Given the description of an element on the screen output the (x, y) to click on. 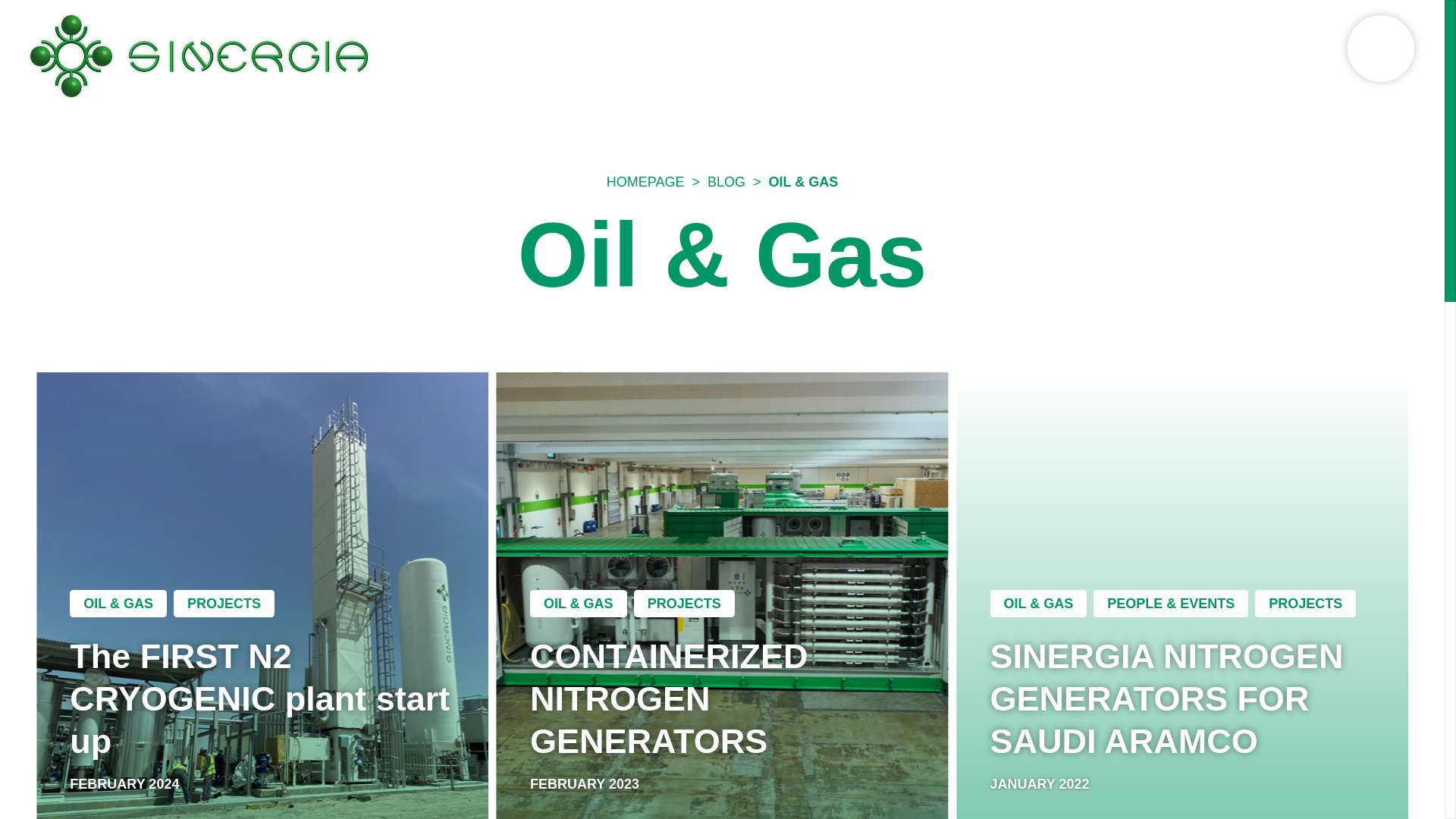
BLOG (726, 181)
Search (20, 7)
HOMEPAGE (645, 181)
Homepage - Sinergia (198, 56)
